Given the description of an element on the screen output the (x, y) to click on. 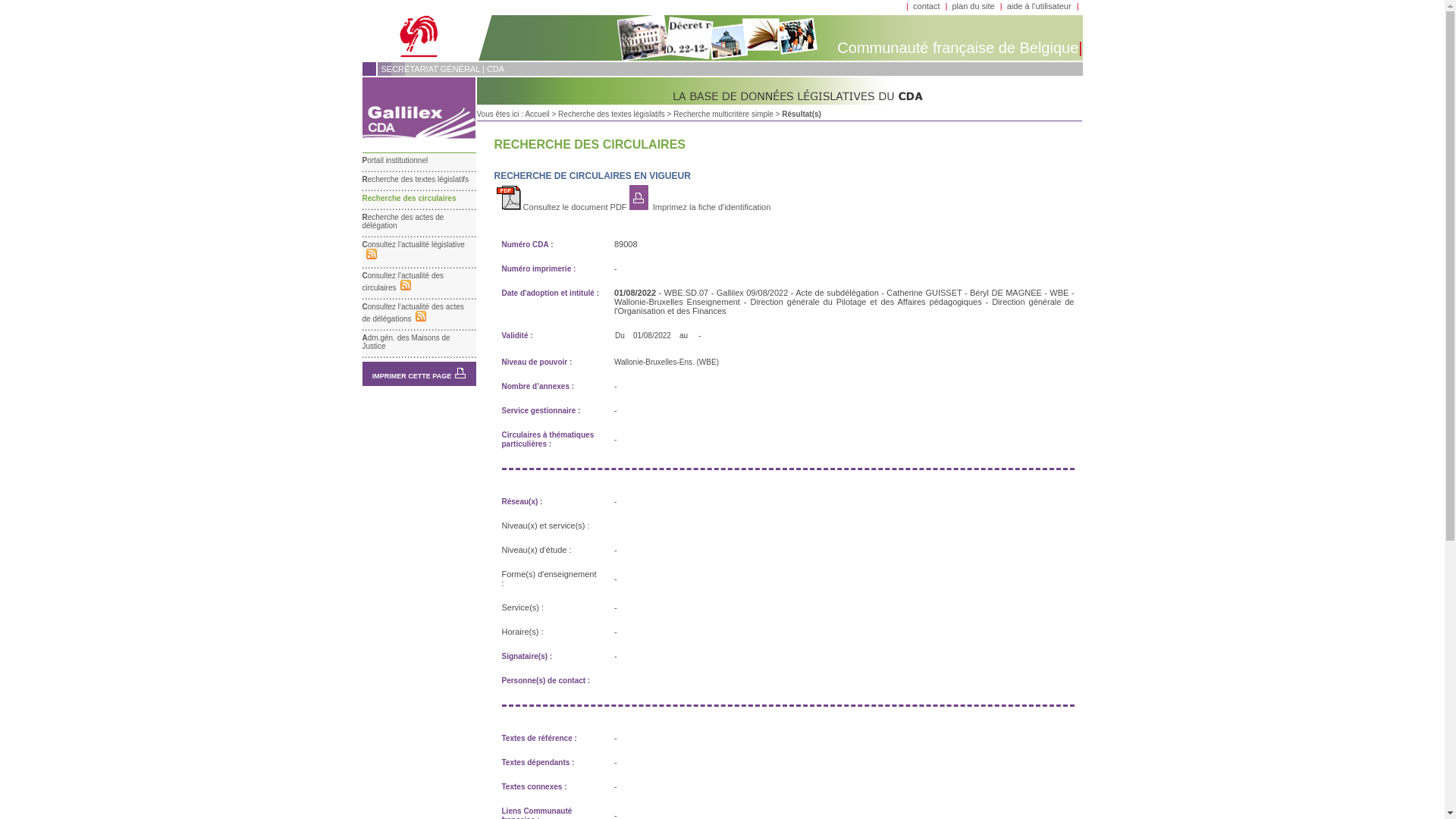
Image d'illustration Element type: hover (418, 111)
Imprimer Element type: hover (460, 372)
IMPRIMER CETTE PAGE Element type: text (411, 375)
Accueil Element type: text (536, 113)
Recherche des circulaires Element type: text (409, 198)
Consultez le document PDF Element type: text (561, 206)
contact Element type: text (926, 5)
Portail institutionnel Element type: text (395, 160)
Imprimez la fiche d'identification Element type: text (710, 206)
plan du site Element type: text (972, 5)
